Given the description of an element on the screen output the (x, y) to click on. 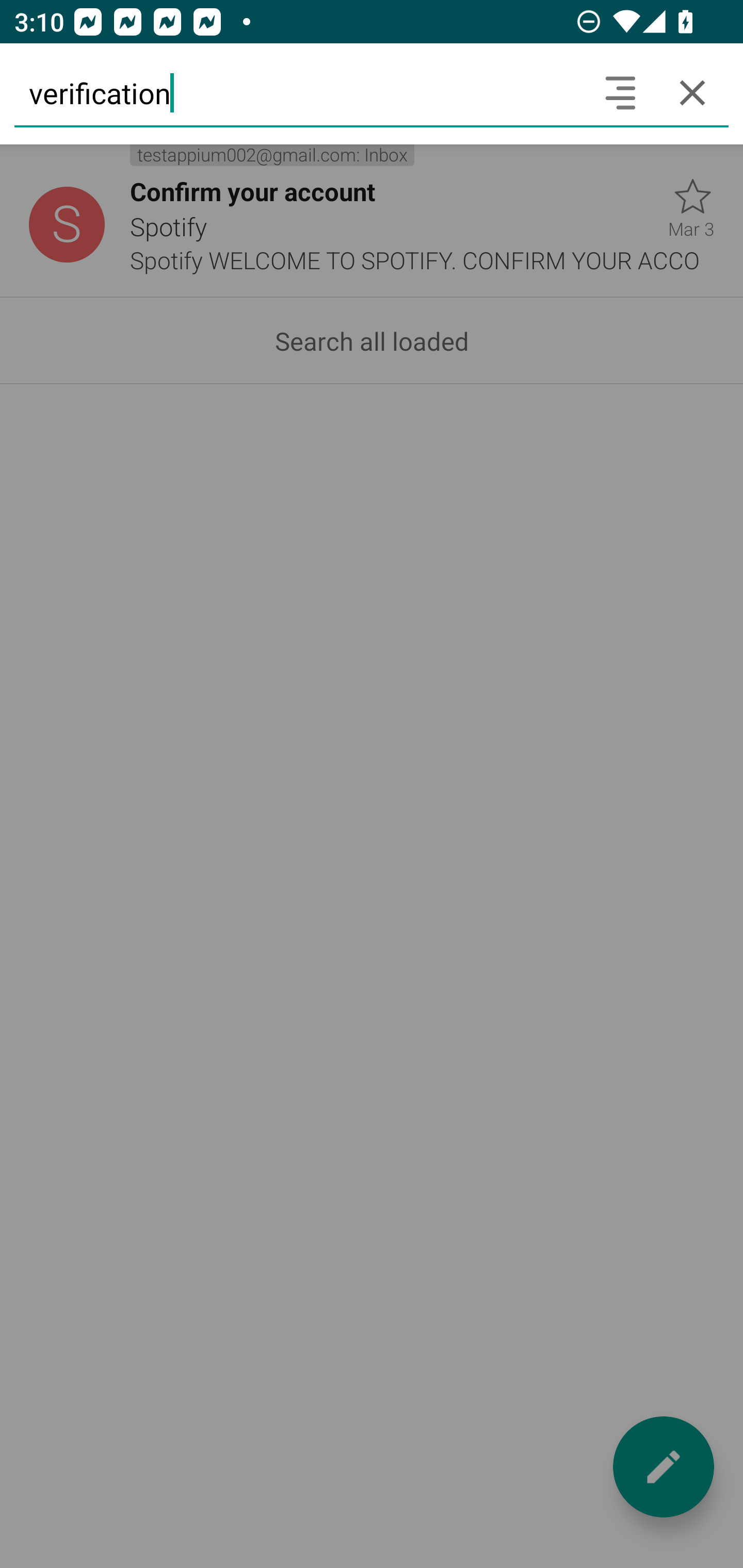
verification (298, 92)
Search headers and text (619, 92)
Cancel (692, 92)
